Given the description of an element on the screen output the (x, y) to click on. 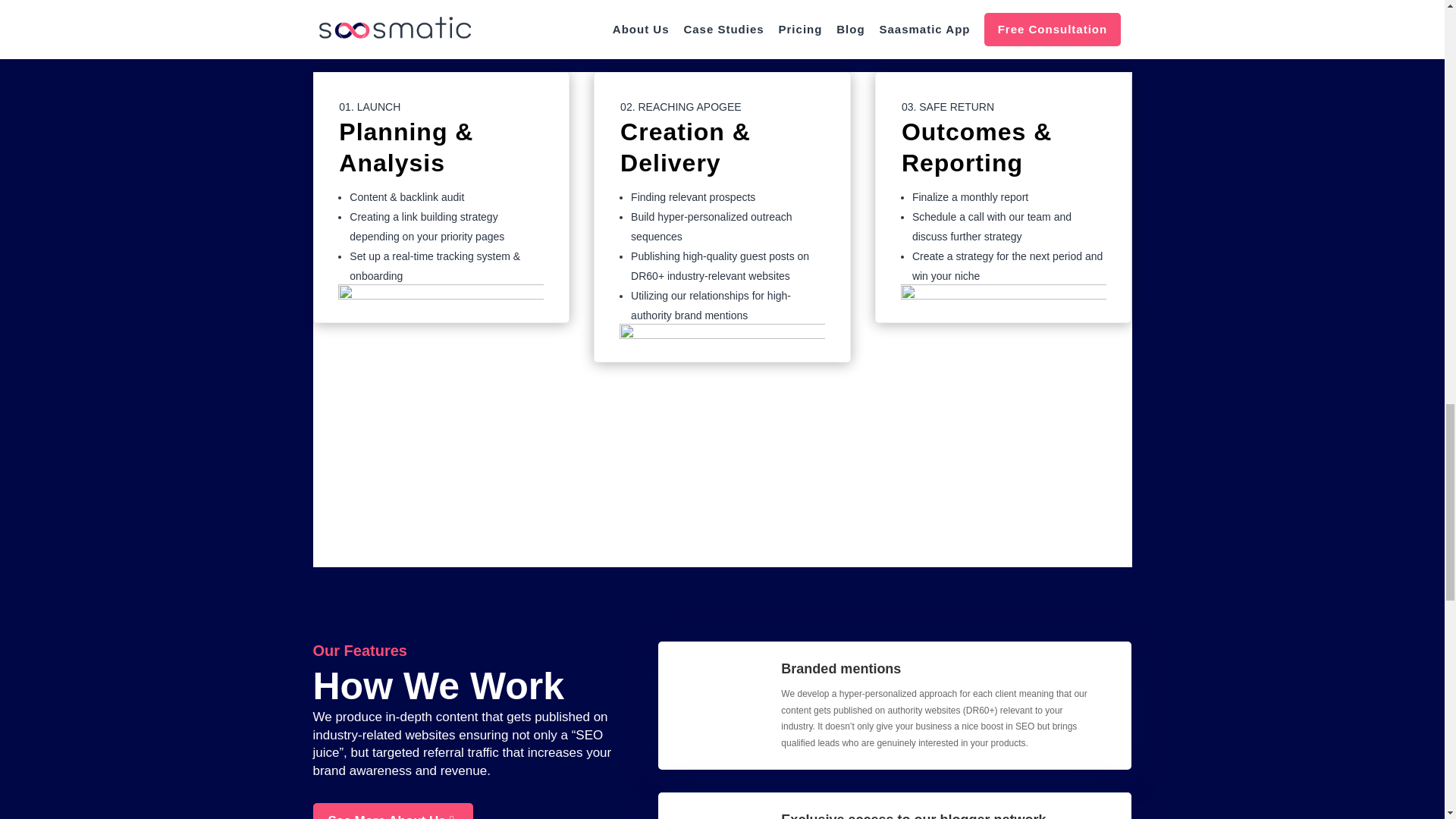
See More About Us (392, 811)
proccess3 copy 3 (722, 426)
proccess3 (1003, 386)
proccess3 copy (440, 386)
